Given the description of an element on the screen output the (x, y) to click on. 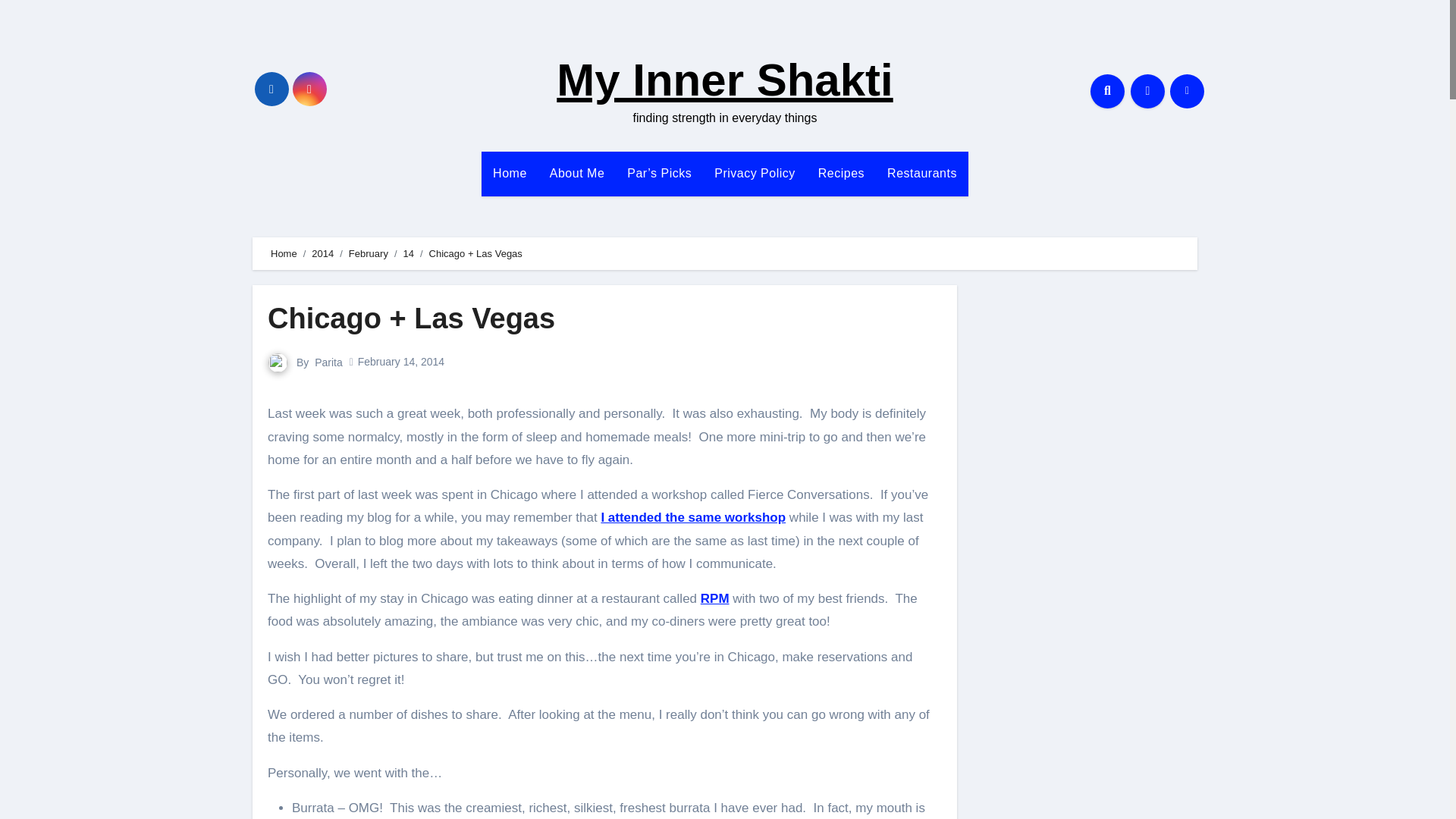
Privacy Policy (754, 173)
14 (408, 253)
Restaurants (922, 173)
About Me (576, 173)
February (368, 253)
My Inner Shakti (724, 79)
Home (283, 253)
Recipes (841, 173)
Home (509, 173)
February 14, 2014 (401, 361)
